Given the description of an element on the screen output the (x, y) to click on. 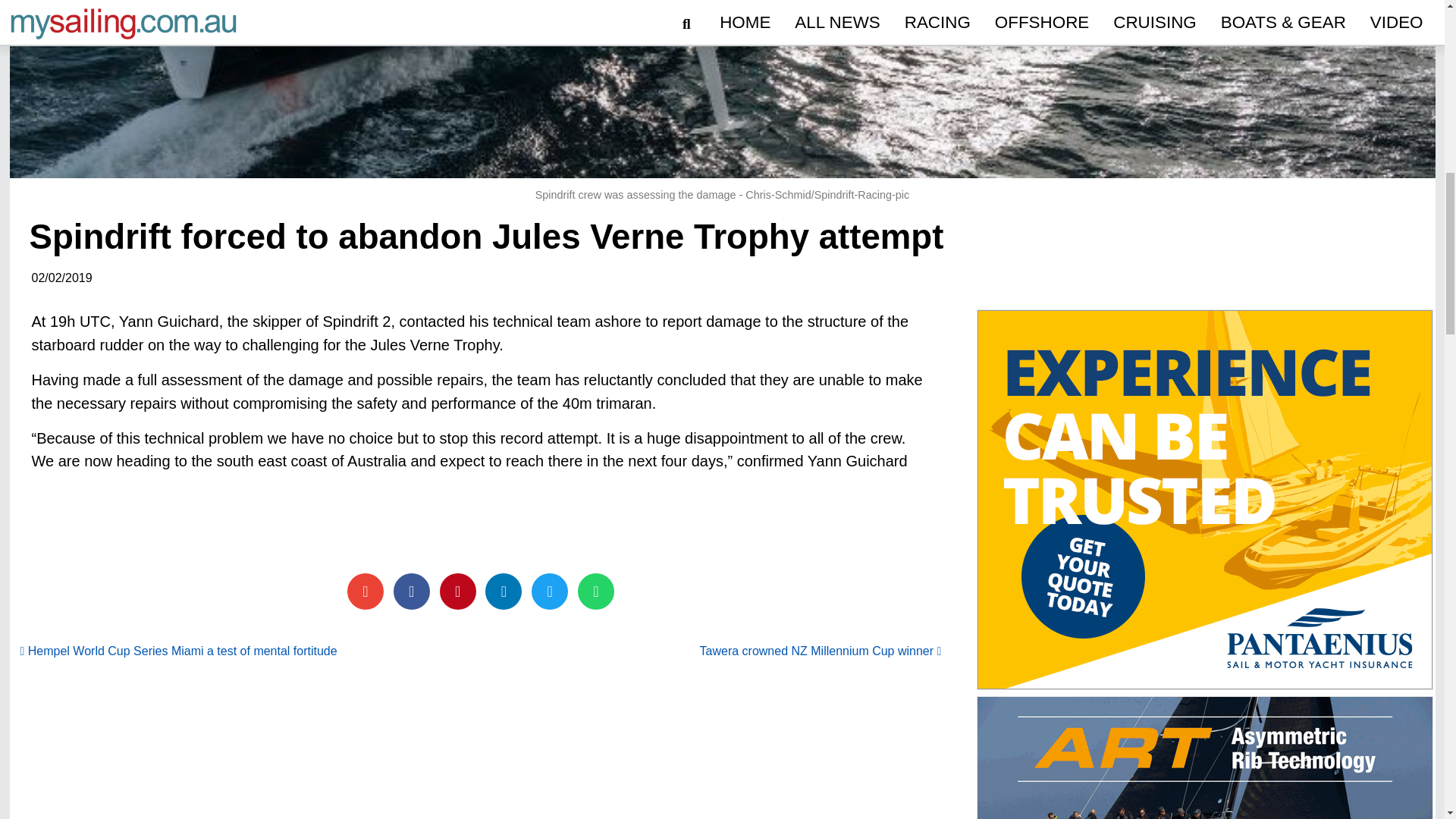
Tawera crowned NZ Millennium Cup winner  (821, 650)
 Hempel World Cup Series Miami a test of mental fortitude (178, 650)
Share by Email (365, 591)
